Given the description of an element on the screen output the (x, y) to click on. 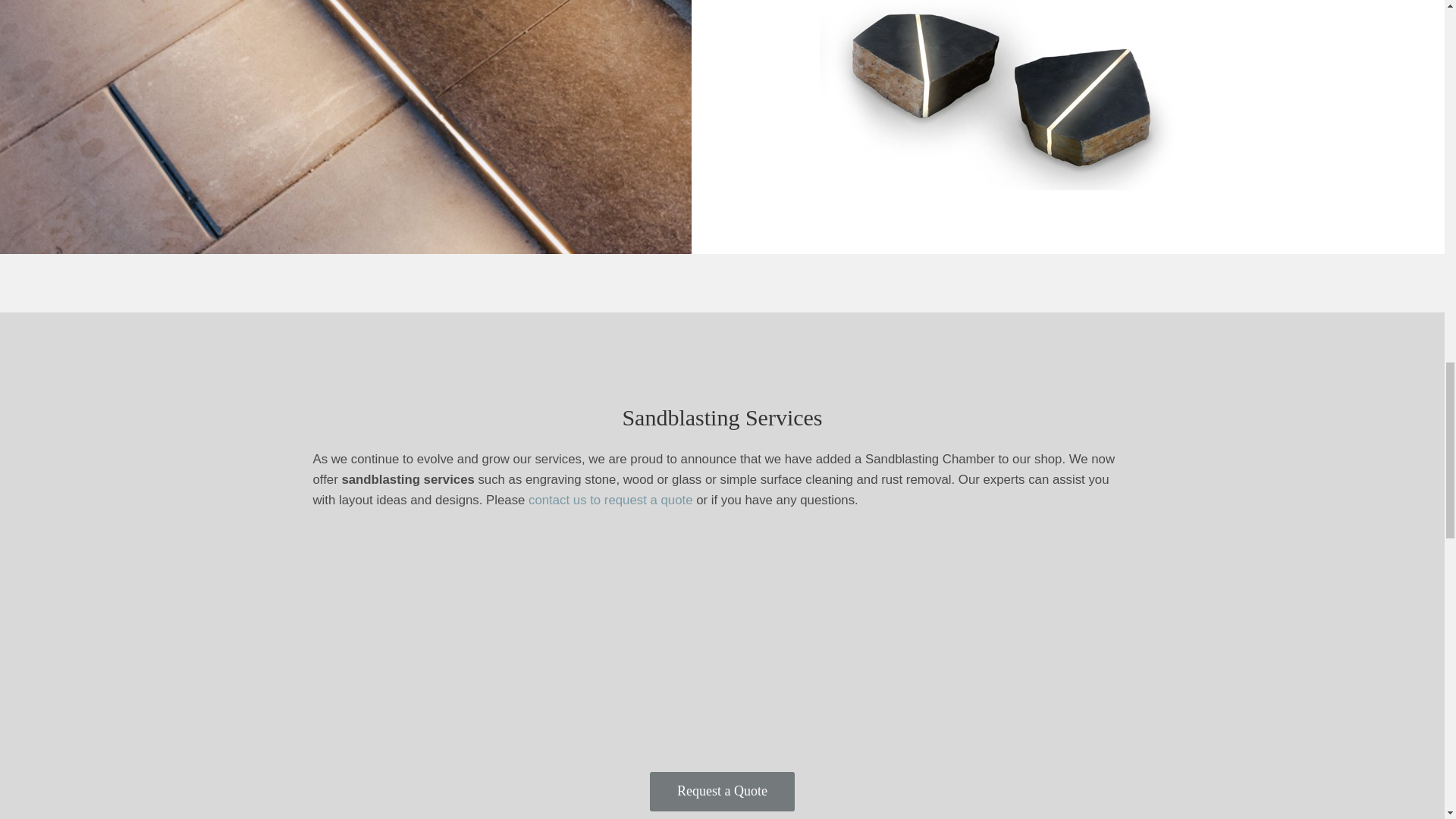
contact us to request a quote (610, 499)
